Given the description of an element on the screen output the (x, y) to click on. 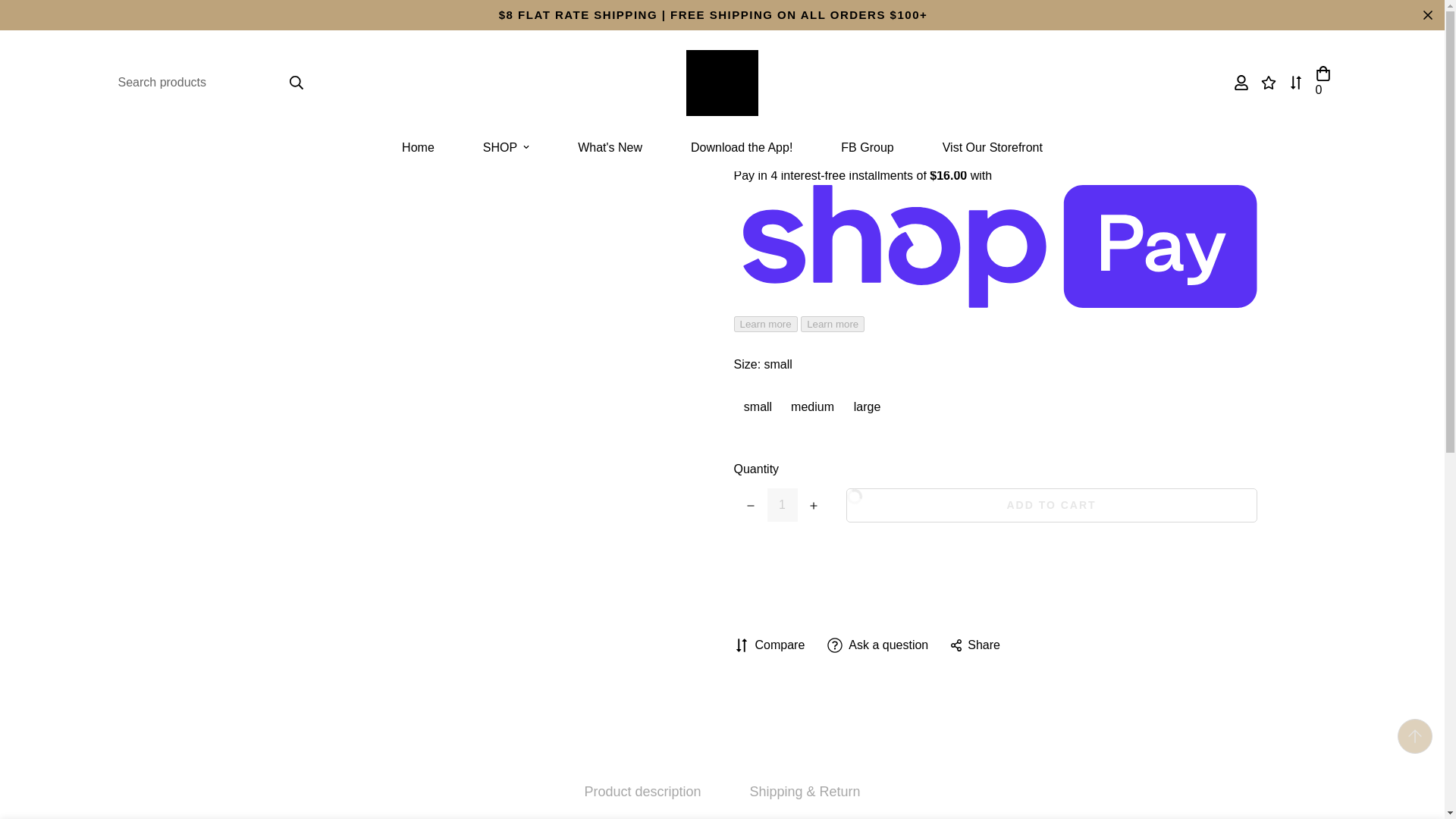
Back to the home page (603, 51)
Vist Our Storefront (992, 147)
SHOP (505, 147)
What's New (609, 147)
Download the App! (741, 147)
Home (417, 147)
FB Group (866, 147)
1 (782, 504)
